Given the description of an element on the screen output the (x, y) to click on. 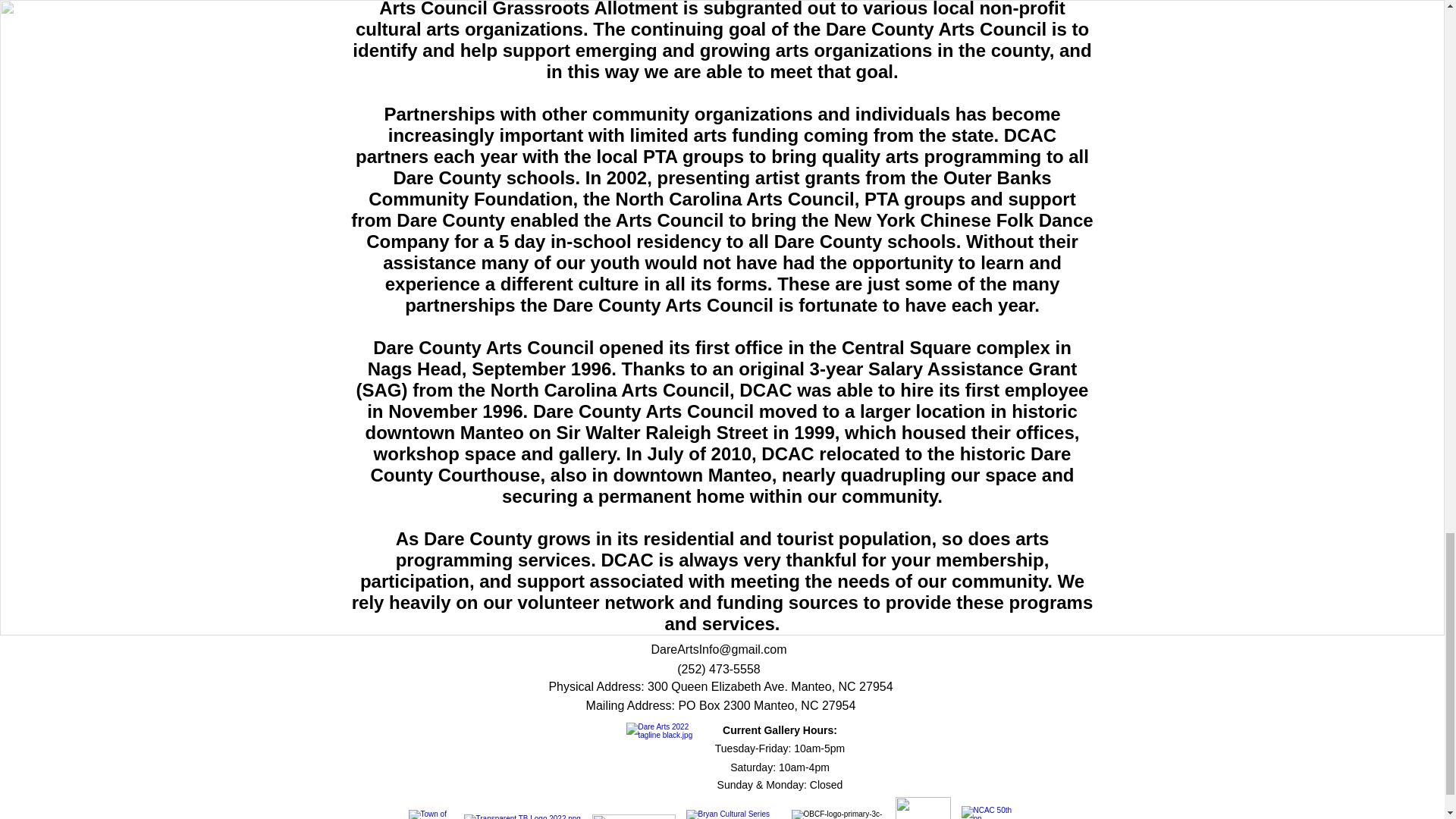
DCAC-Logo BLK in CYMK at 300 dpi.jpg (665, 761)
